Given the description of an element on the screen output the (x, y) to click on. 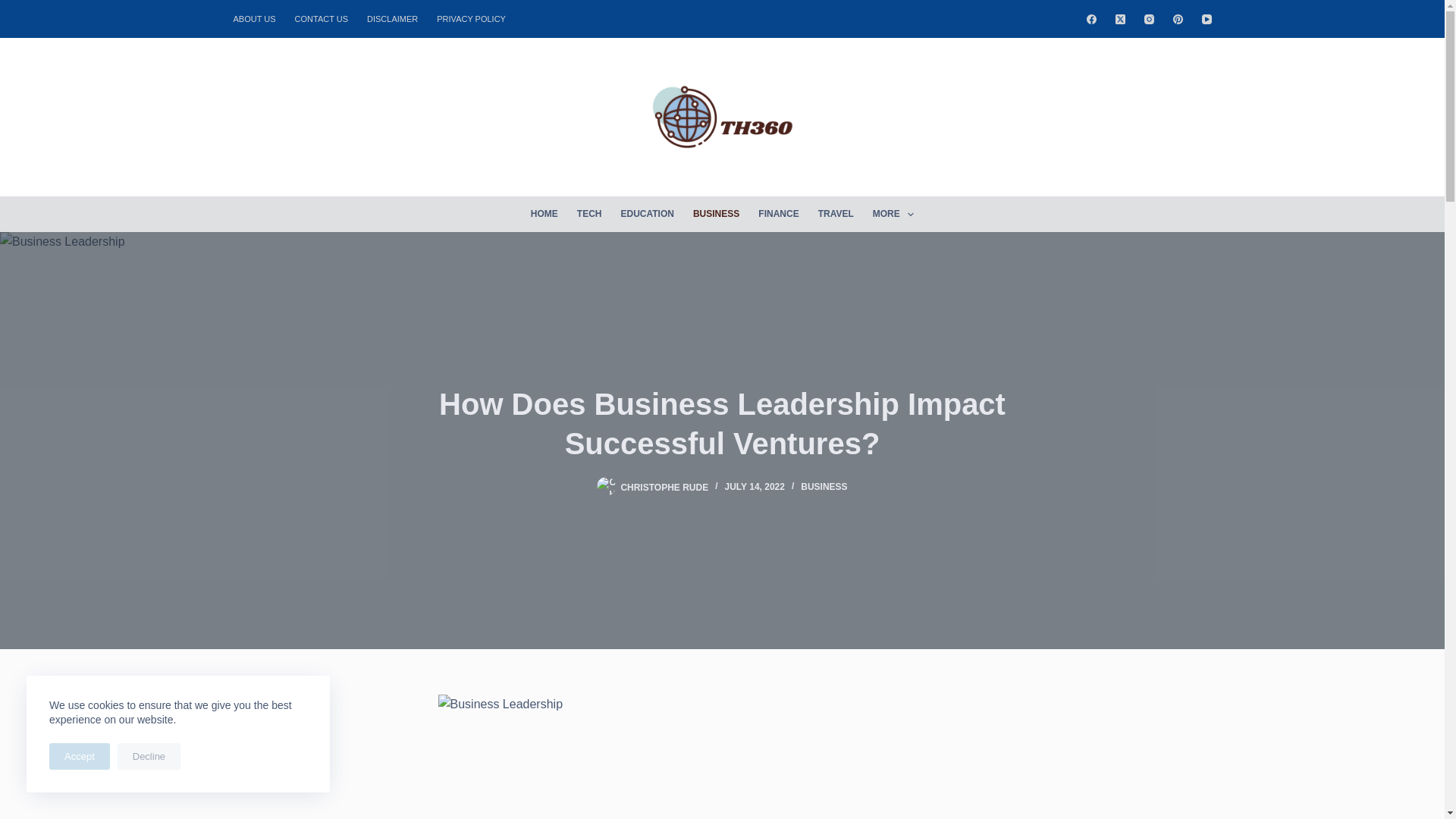
MORE (893, 213)
CONTACT US (321, 18)
Accept (79, 755)
Decline (148, 755)
DISCLAIMER (393, 18)
HOME (544, 213)
TRAVEL (835, 213)
How Does Business Leadership Impact Successful Ventures? (722, 423)
BUSINESS (715, 213)
EDUCATION (646, 213)
Skip to content (15, 7)
TECH (589, 213)
FINANCE (778, 213)
Posts by Christophe Rude (663, 486)
ABOUT US (258, 18)
